Given the description of an element on the screen output the (x, y) to click on. 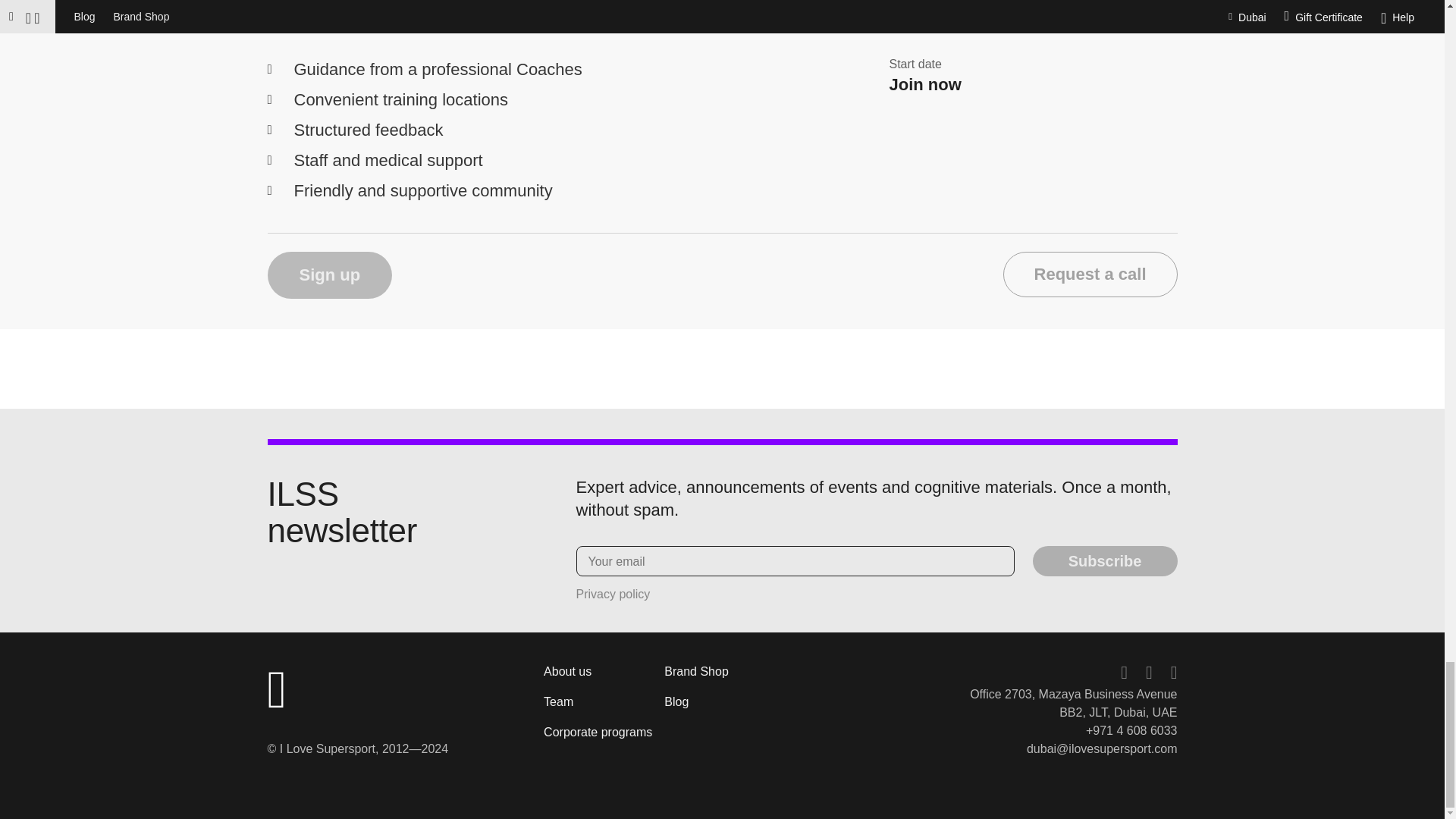
Subscribe (1104, 561)
Request a call (1090, 274)
Sign up (328, 274)
Privacy policy (613, 594)
Blog (675, 701)
About us (567, 671)
Team (558, 701)
Corporate programs (597, 731)
Brand Shop (696, 671)
